Given the description of an element on the screen output the (x, y) to click on. 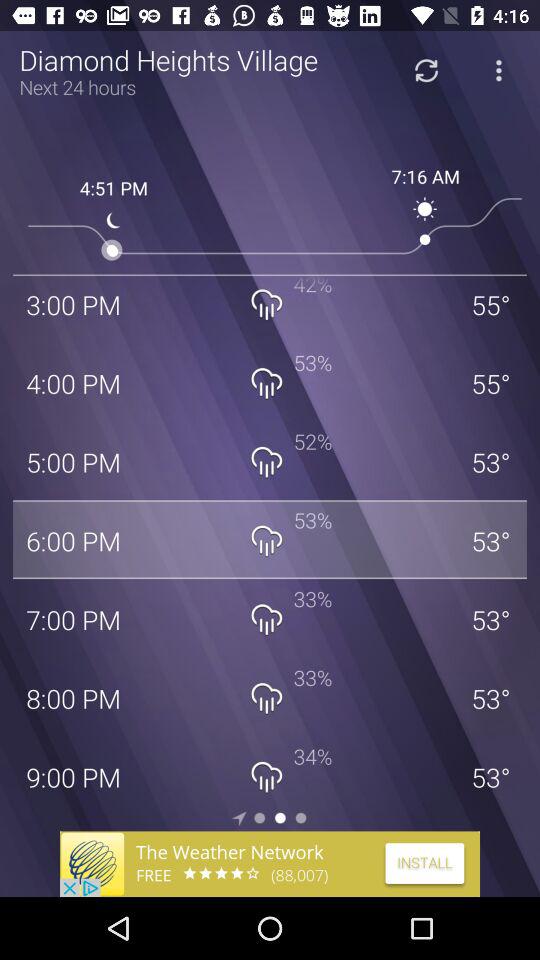
open menu (498, 70)
